Given the description of an element on the screen output the (x, y) to click on. 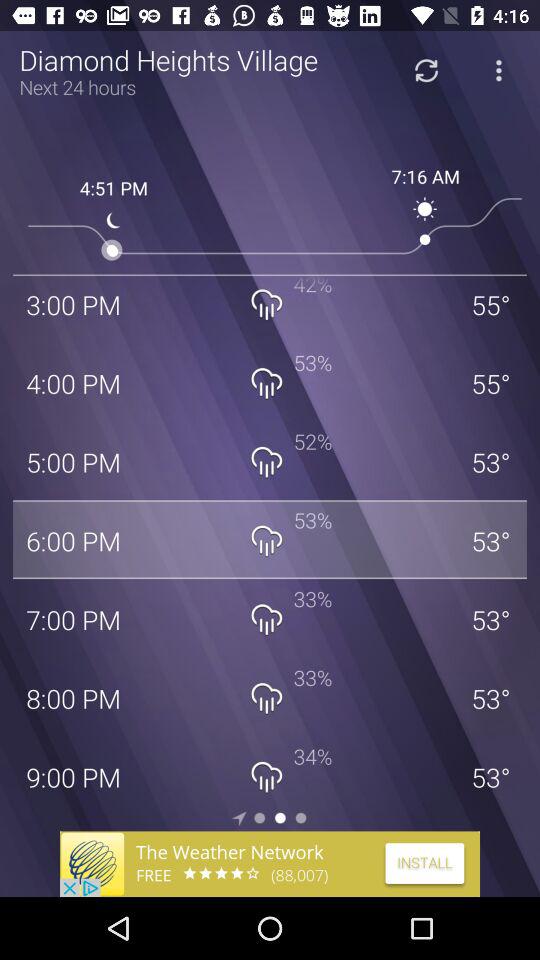
open menu (498, 70)
